Given the description of an element on the screen output the (x, y) to click on. 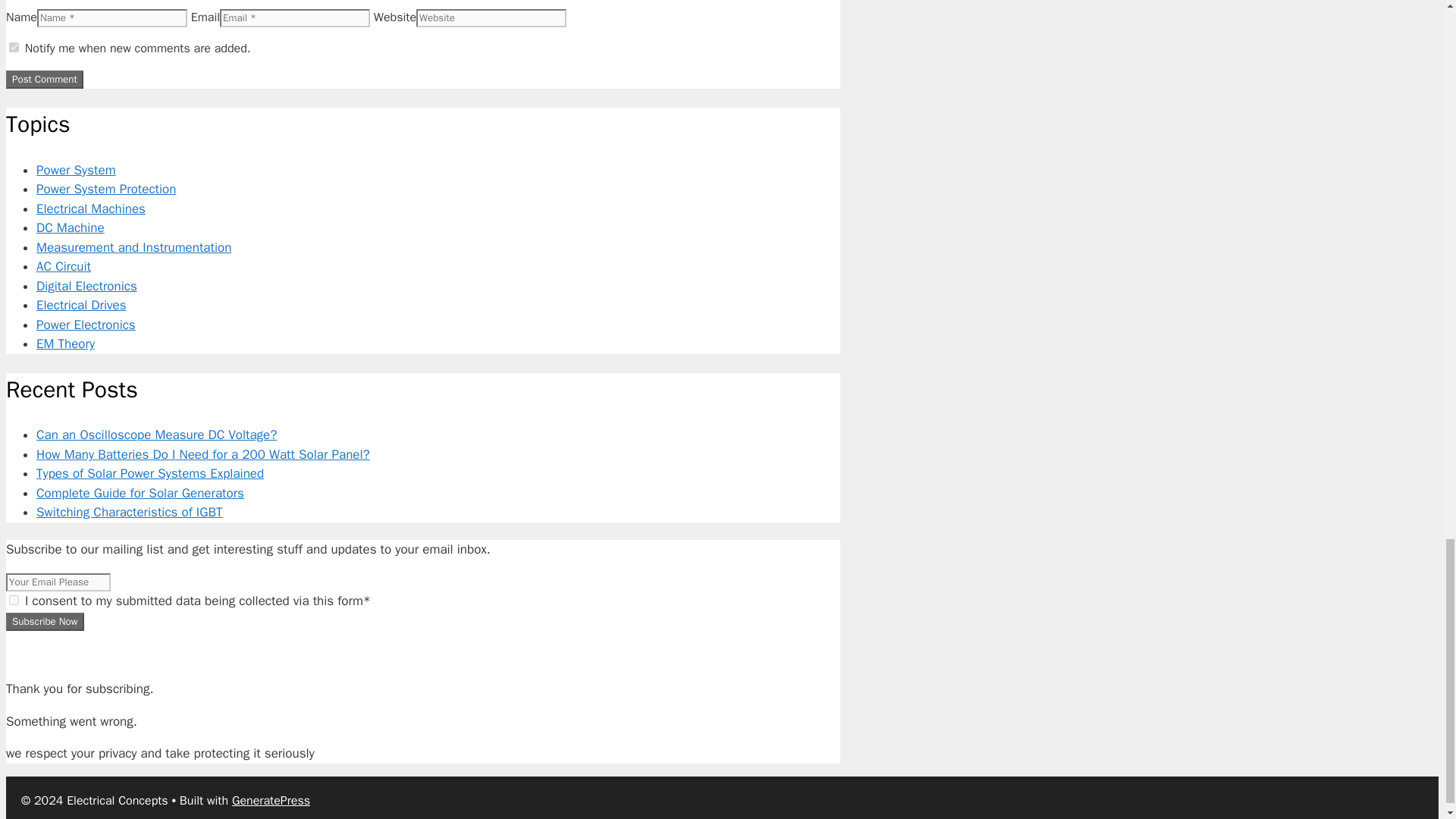
Can an Oscilloscope Measure DC Voltage? (156, 434)
Electrical Drives (80, 304)
Complete Guide for Solar Generators (140, 493)
Switching Characteristics of IGBT (129, 512)
EM Theory (65, 343)
Types of Solar Power Systems Explained (149, 473)
Power System Protection (106, 188)
Power Electronics (85, 324)
Measurement and Instrumentation (133, 247)
Post Comment (43, 79)
